Given the description of an element on the screen output the (x, y) to click on. 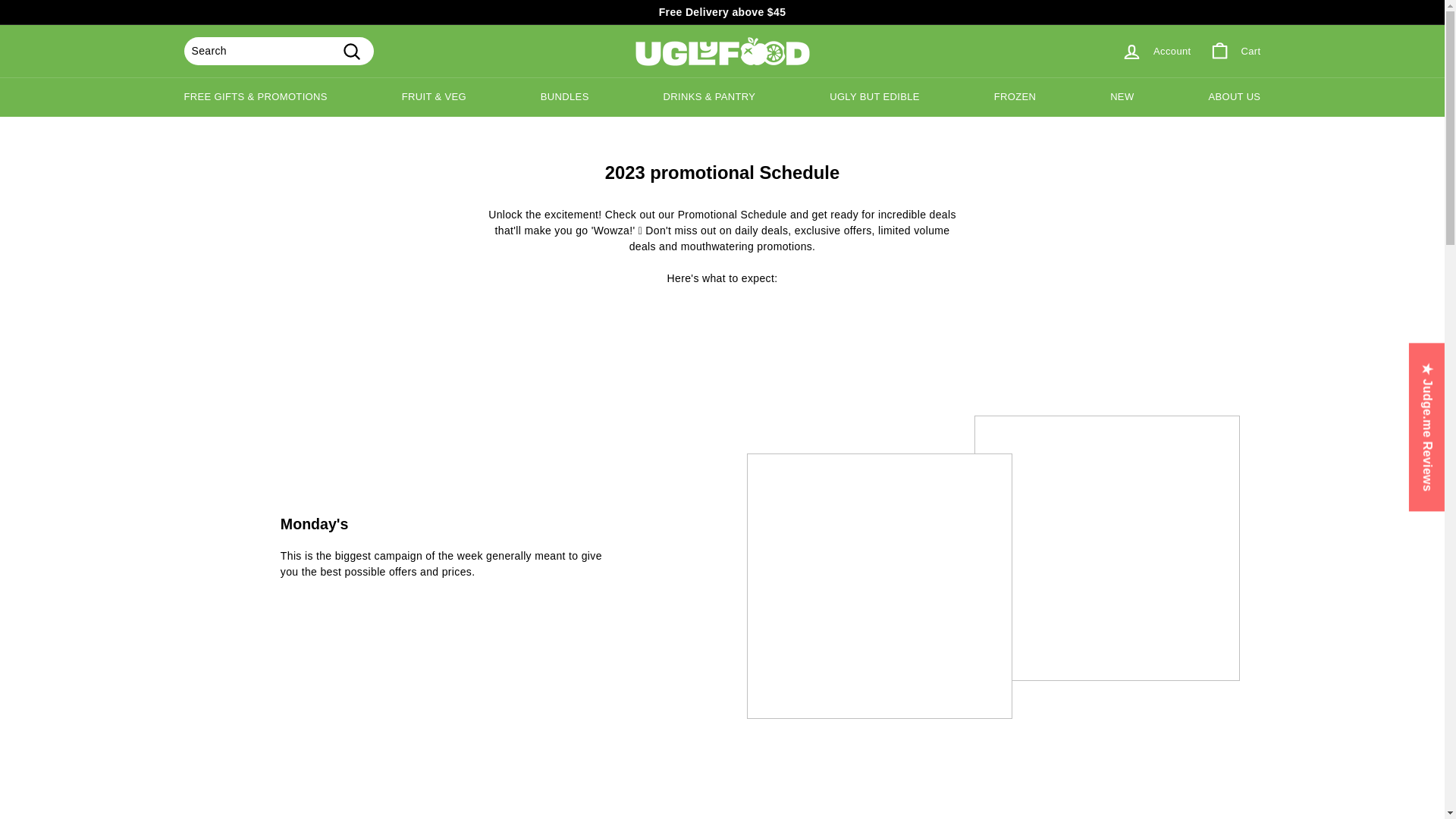
UGLY BUT EDIBLE (873, 96)
NEW (1121, 96)
Account (1155, 50)
ABOUT US (1233, 96)
FROZEN (1014, 96)
BUNDLES (564, 96)
